Given the description of an element on the screen output the (x, y) to click on. 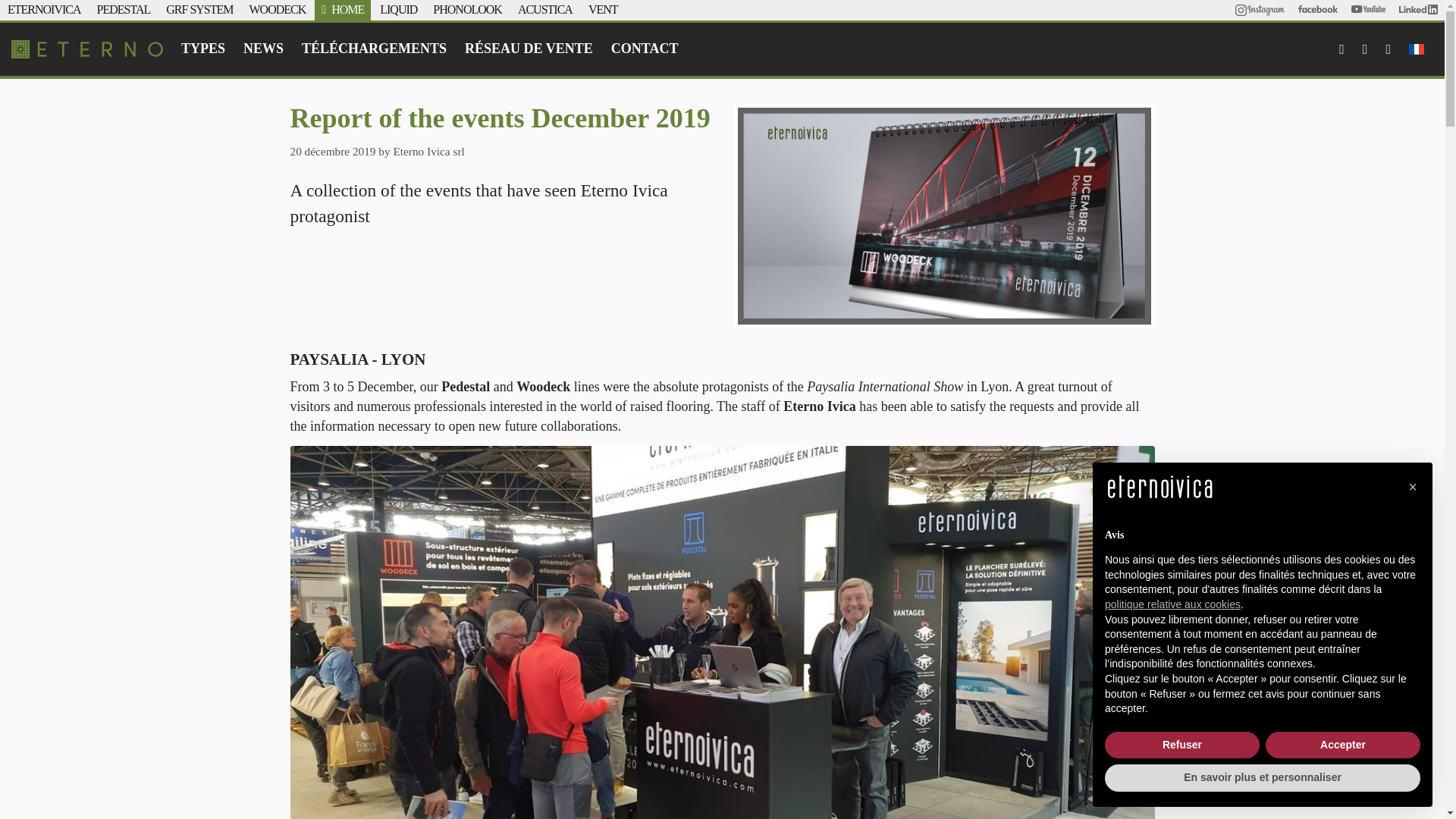
PEDESTAL (124, 9)
HOME (347, 9)
WOODECK (276, 9)
Report of the events December 2019Eterno Ivica (87, 48)
CONTACT (644, 49)
PHONOLOOK (467, 9)
GRF SYSTEM (198, 9)
ETERNOIVICA (44, 9)
ACUSTICA (545, 9)
VENT (602, 9)
LIQUID (398, 9)
TYPES (202, 49)
Report of the events December 2019 (943, 215)
NEWS (263, 49)
